Given the description of an element on the screen output the (x, y) to click on. 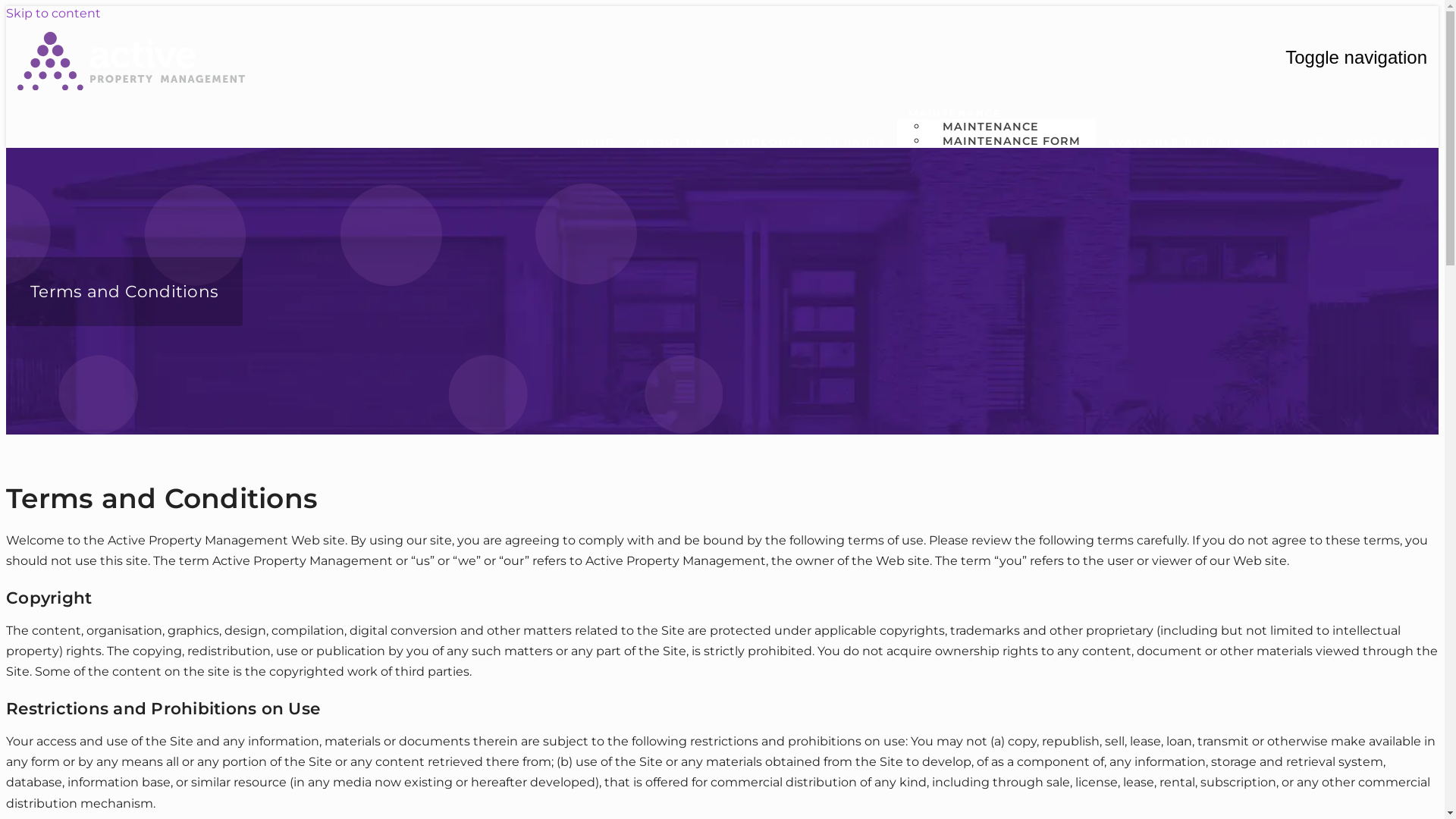
Skip to content Element type: text (53, 13)
CONTACT US Element type: text (1386, 141)
MAINTENANCE FORM Element type: text (1011, 140)
AVAILABLE RENTALS Element type: text (1174, 141)
HOME Element type: text (594, 141)
LANDLORDS Element type: text (764, 141)
MAINTENANCE Element type: text (955, 112)
TOP TIPS Element type: text (1293, 141)
ABOUT US Element type: text (669, 141)
TENANTS Element type: text (856, 141)
Toggle navigation Element type: text (1356, 57)
MAINTENANCE Element type: text (990, 126)
